Given the description of an element on the screen output the (x, y) to click on. 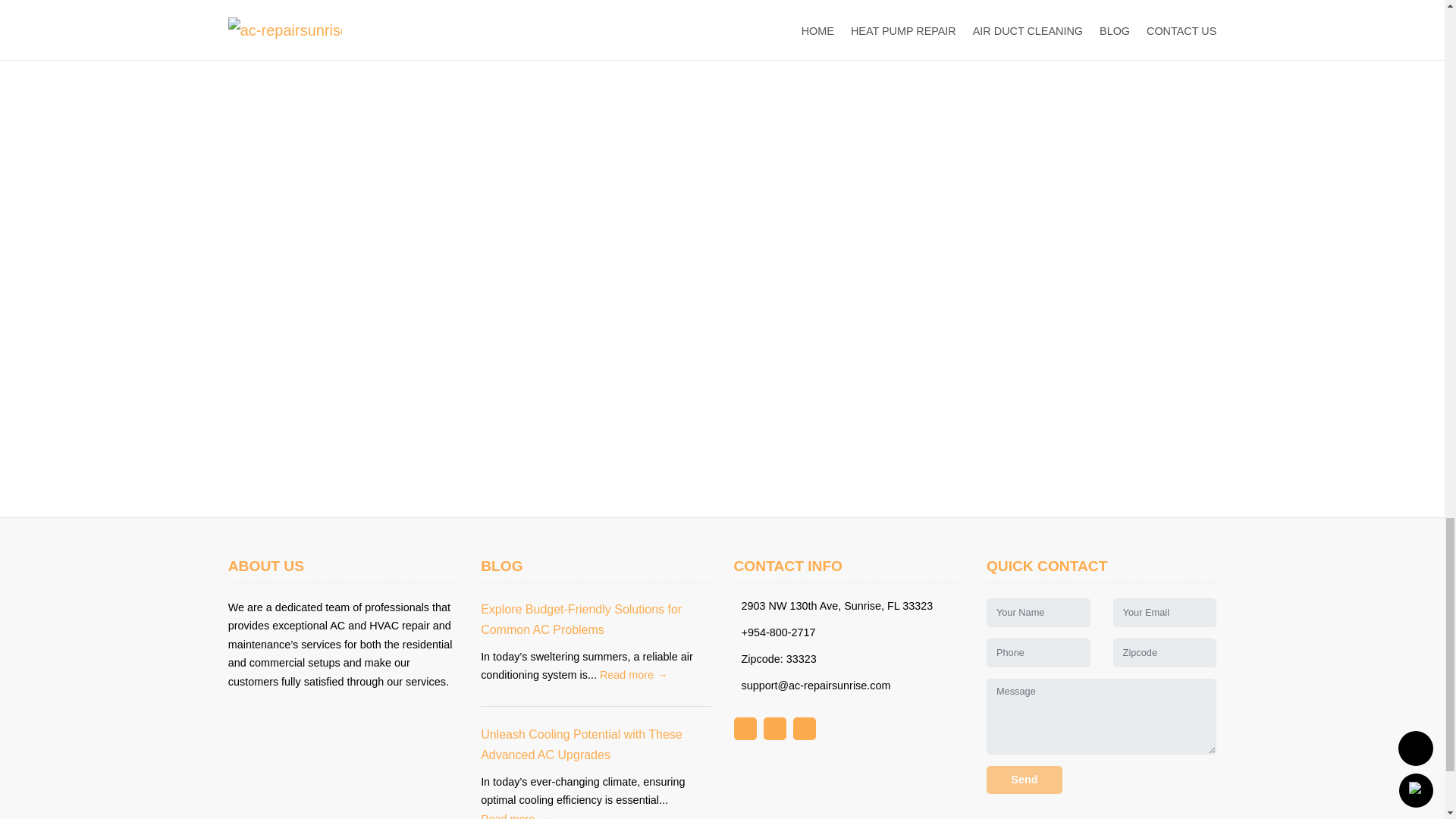
Send (1024, 779)
Unleash Cooling Potential with These Advanced AC Upgrades (581, 744)
Send (1024, 779)
Call Us (1136, 15)
Explore Budget-Friendly Solutions for Common AC Problems (580, 619)
954-800-2717 (584, 14)
